Given the description of an element on the screen output the (x, y) to click on. 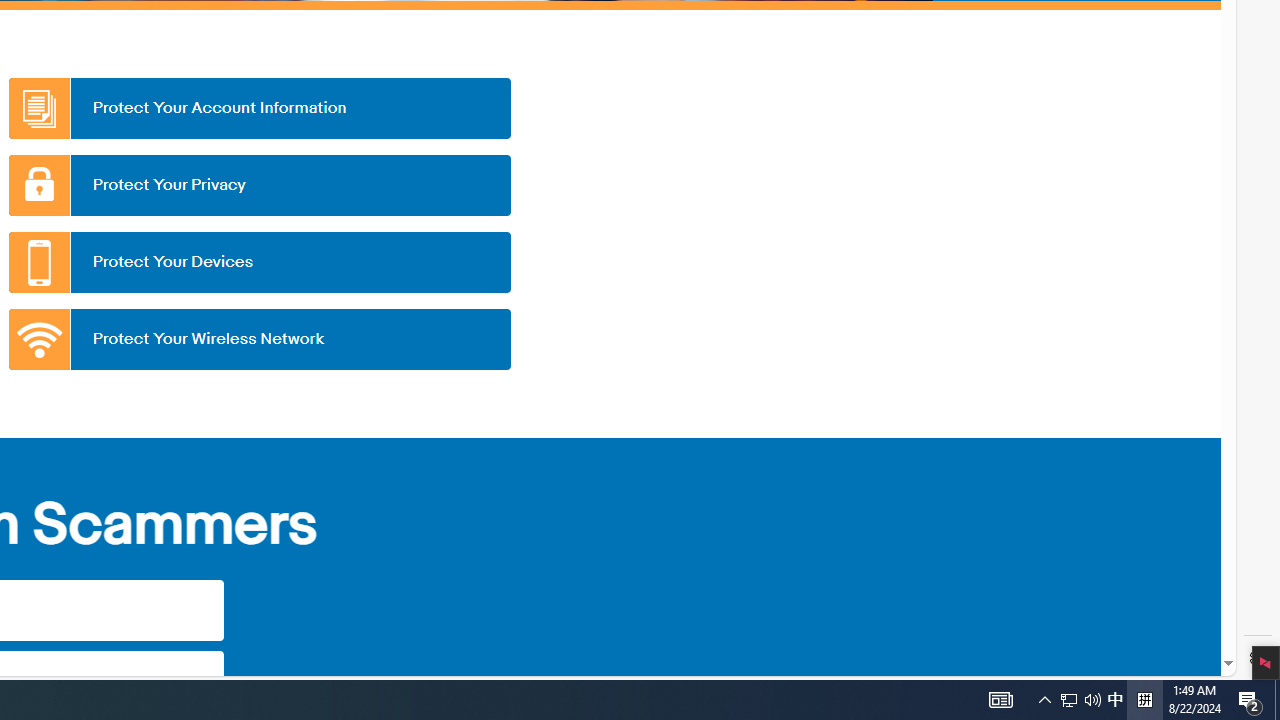
Protect Your Devices (259, 262)
Settings (1258, 658)
Protect Your Wireless Network (259, 339)
Protect Your Account Information (259, 107)
Protect Your Privacy (259, 185)
